Given the description of an element on the screen output the (x, y) to click on. 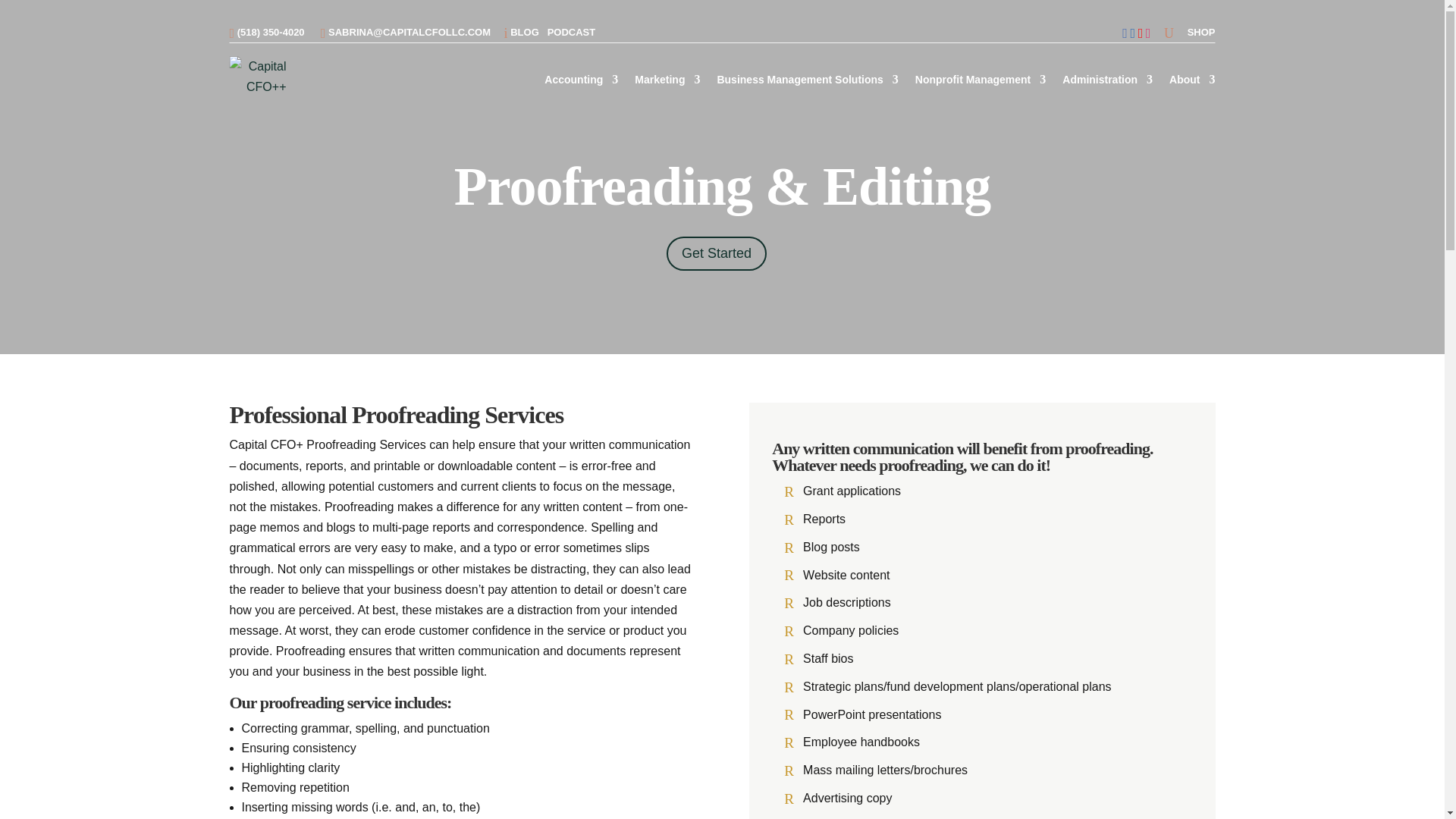
Marketing (667, 79)
SHOP (1201, 31)
PODCAST (571, 31)
Nonprofit Management (980, 79)
Business Management Solutions (807, 79)
BLOG (524, 31)
Accounting (580, 79)
